Given the description of an element on the screen output the (x, y) to click on. 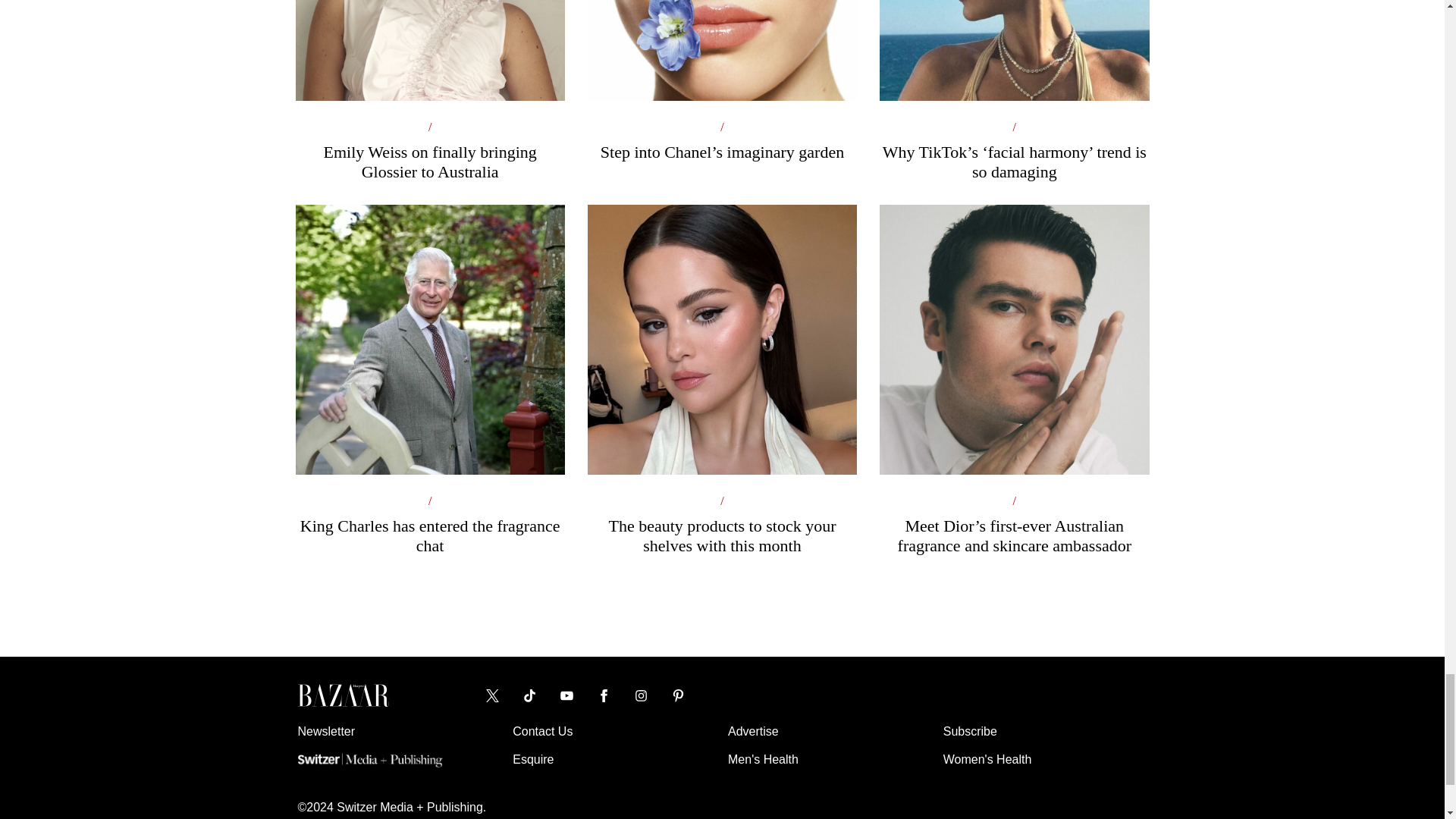
Emily Weiss on finally bringing Glossier to Australia (429, 91)
King Charles has entered the fragrance chat (429, 444)
The beauty products to stock your shelves with this month (722, 444)
Emily Weiss on finally bringing Glossier to Australia (429, 91)
